Given the description of an element on the screen output the (x, y) to click on. 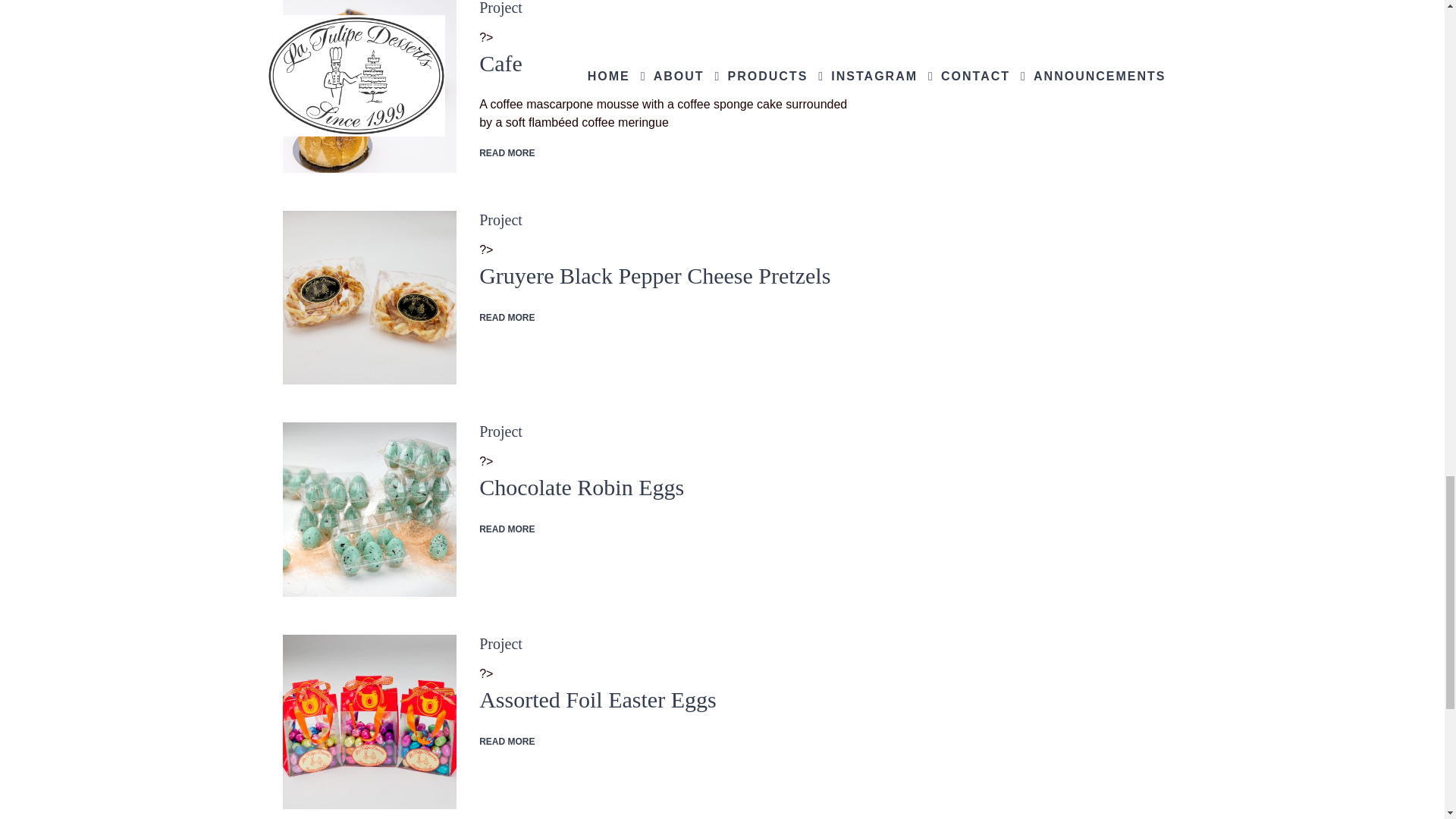
Gruyere Black Pepper Cheese Pretzels (369, 297)
Cafe (369, 86)
